Given the description of an element on the screen output the (x, y) to click on. 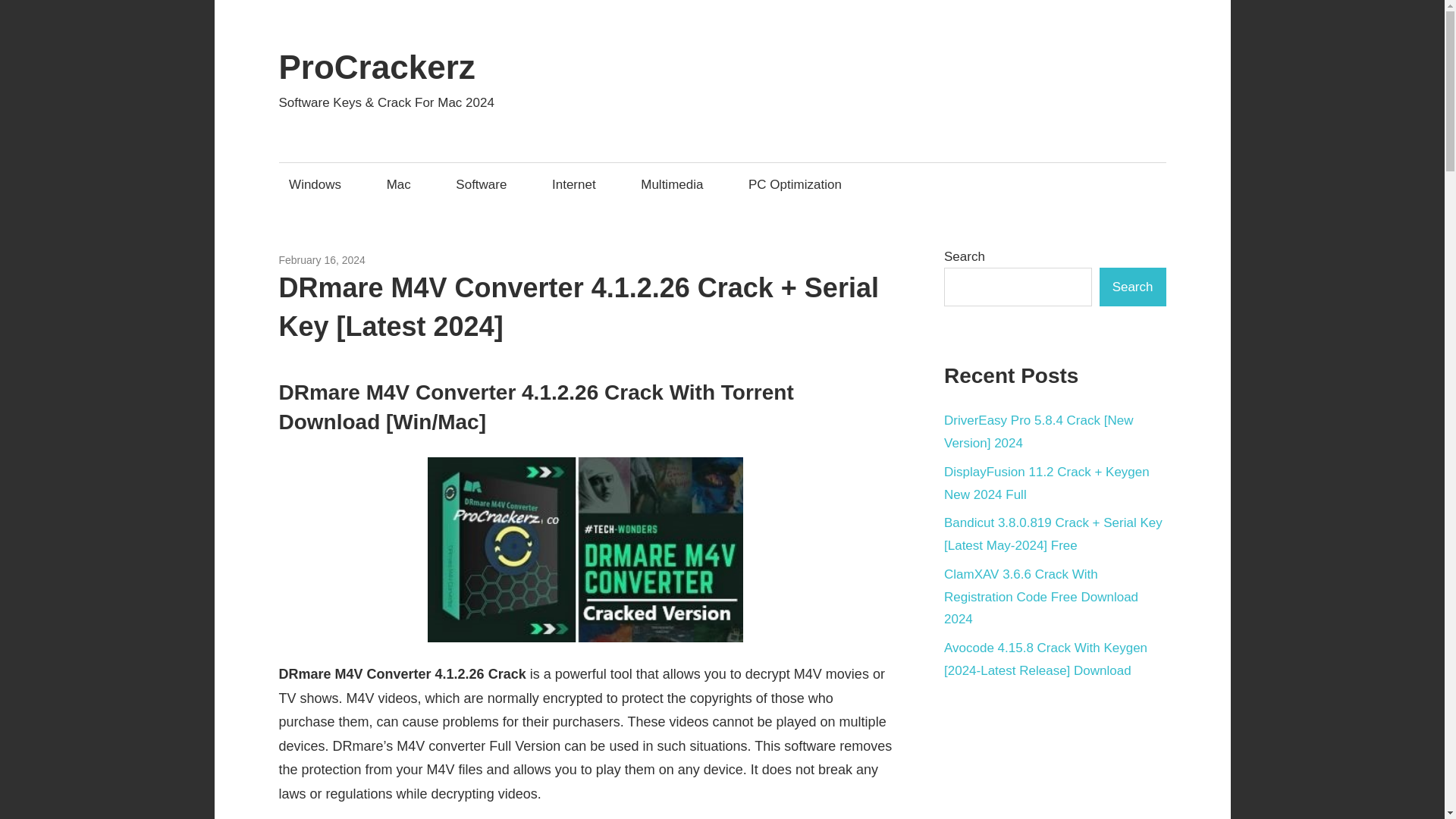
Internet (577, 184)
Multimedia (390, 259)
February 16, 2024 (322, 259)
1:46 pm (322, 259)
PC Optimization (799, 184)
Multimedia (676, 184)
Software (485, 184)
Video Editor (454, 259)
Mac (402, 184)
Windows (320, 184)
